Given the description of an element on the screen output the (x, y) to click on. 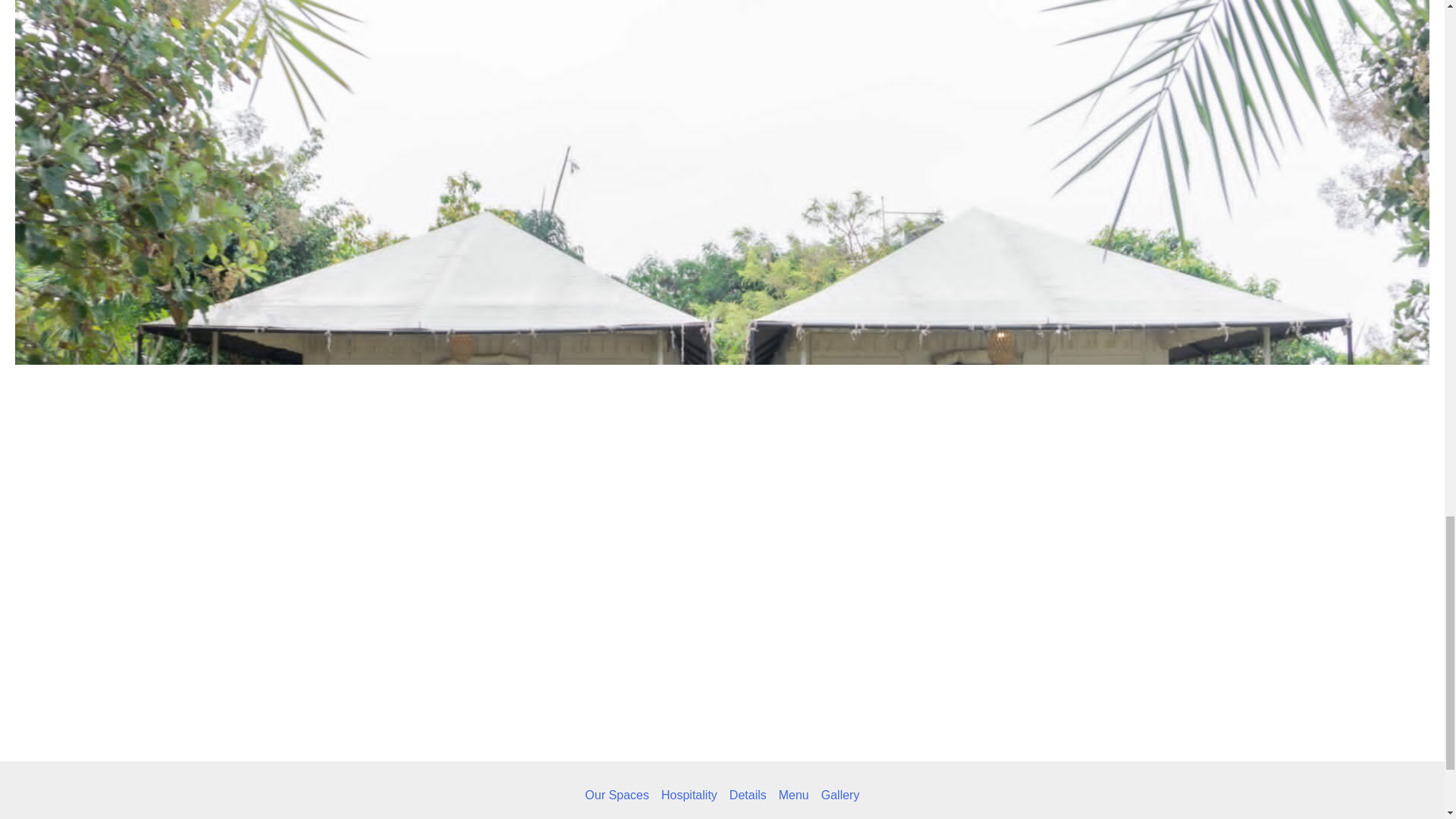
Hospitality (689, 794)
Our Spaces (620, 794)
Gallery (837, 794)
Details (748, 794)
Menu (794, 794)
